Given the description of an element on the screen output the (x, y) to click on. 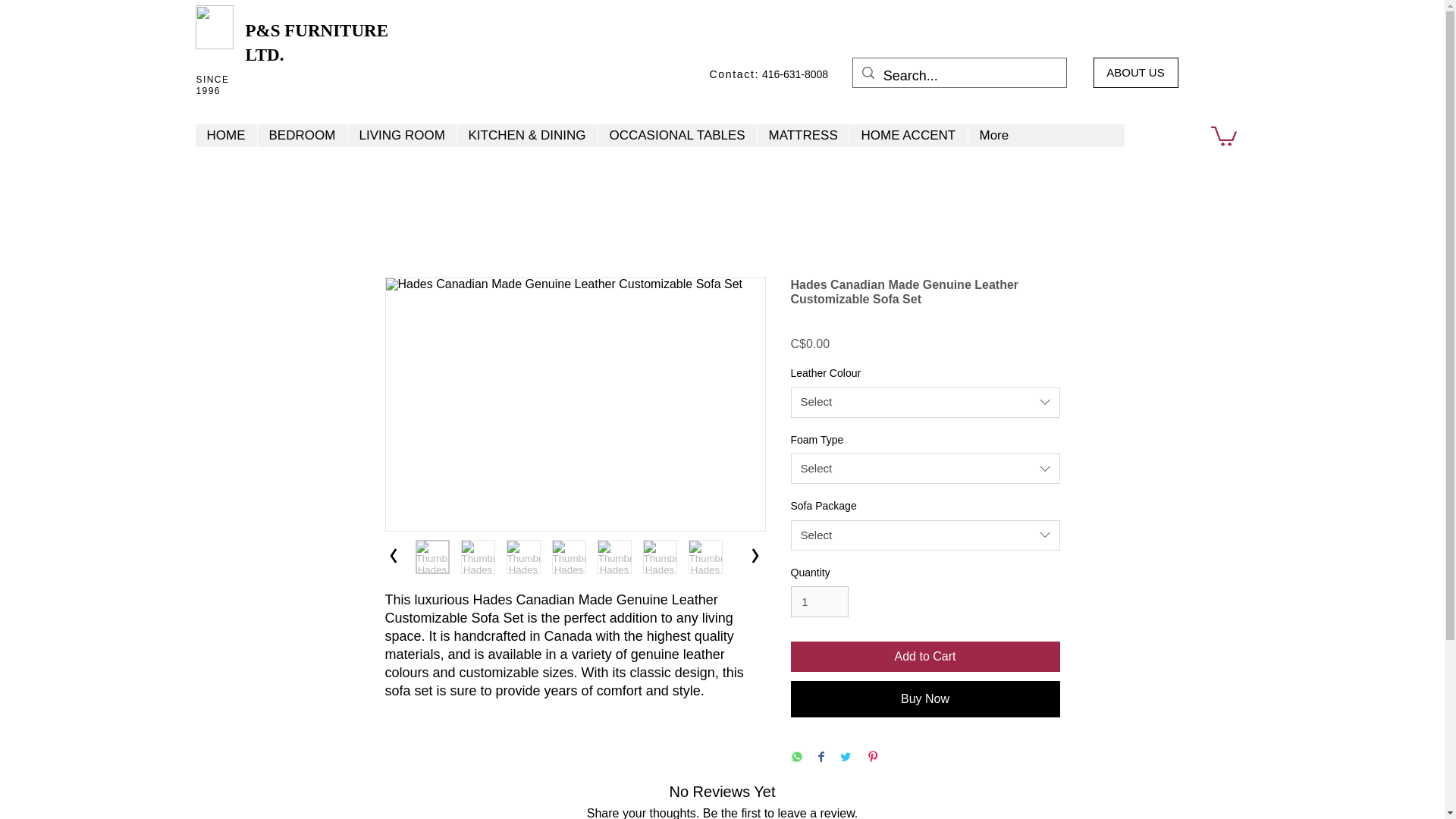
LIVING ROOM (402, 135)
HOME (226, 135)
1 (818, 601)
ABOUT US (1135, 72)
MATTRESS (802, 135)
BEDROOM (301, 135)
OCCASIONAL TABLES (676, 135)
HOME ACCENT (908, 135)
